Given the description of an element on the screen output the (x, y) to click on. 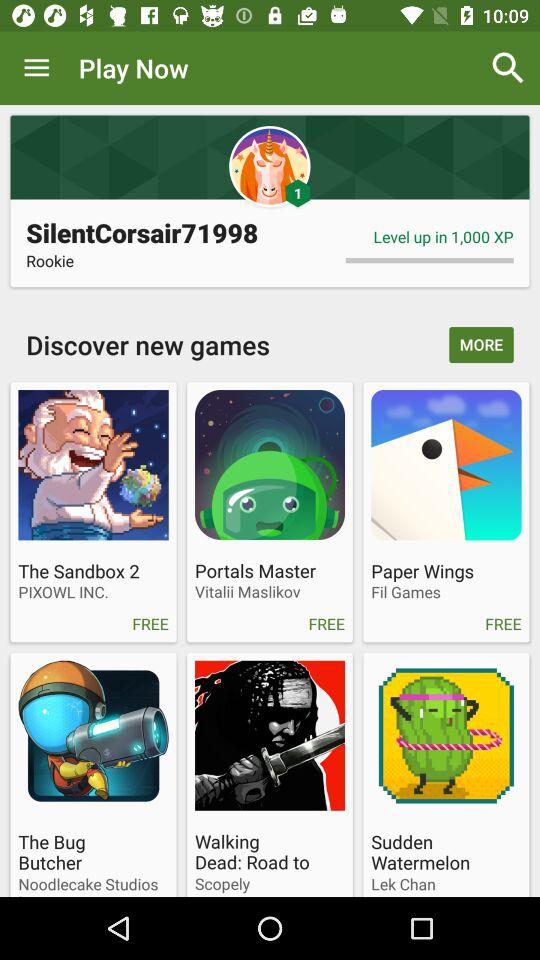
open the app next to play now icon (36, 68)
